Given the description of an element on the screen output the (x, y) to click on. 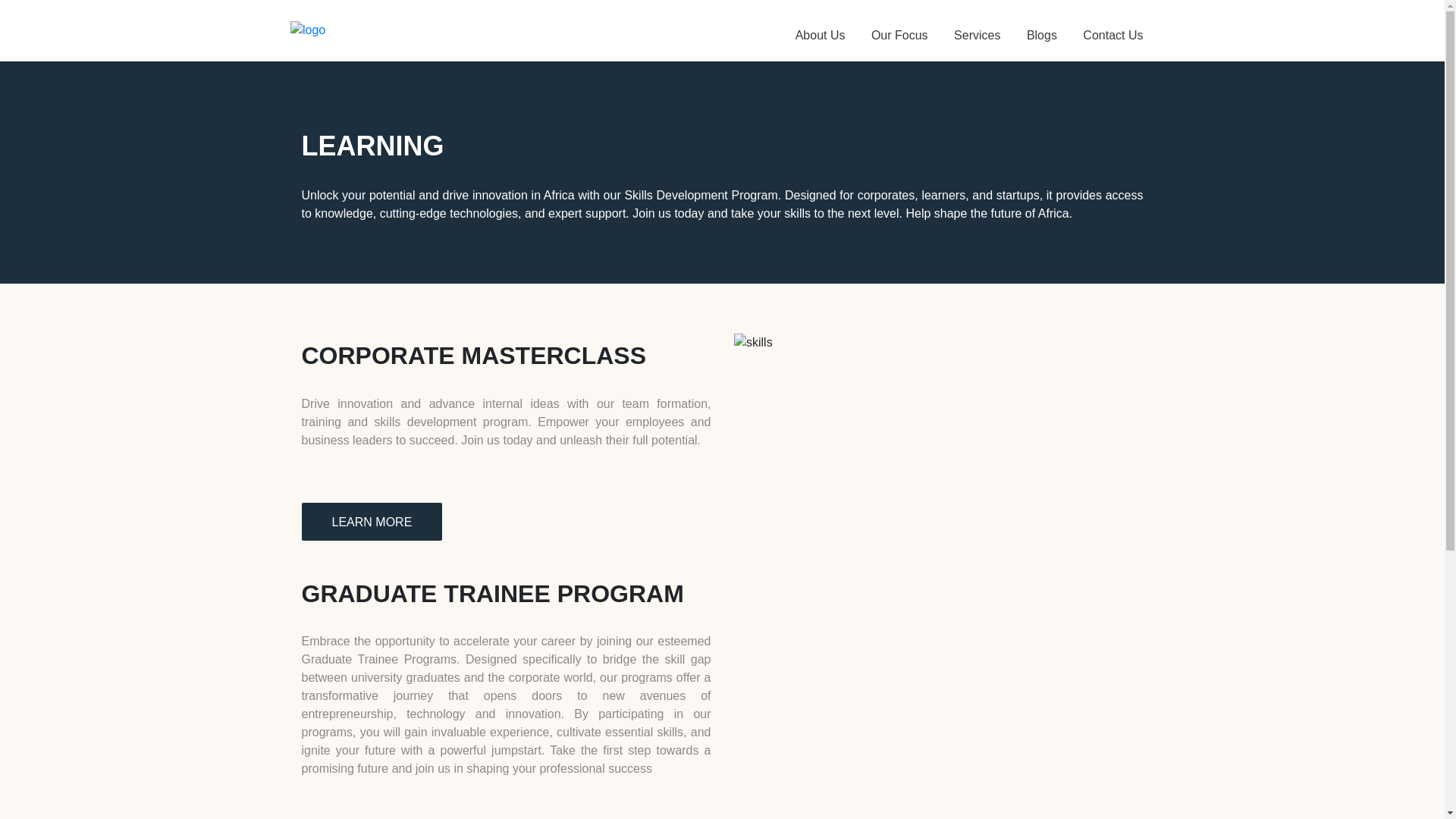
Services (976, 30)
Our Focus (899, 30)
LEARN MORE (371, 521)
Blogs (1041, 30)
About Us (820, 30)
Contact Us (1112, 30)
